Given the description of an element on the screen output the (x, y) to click on. 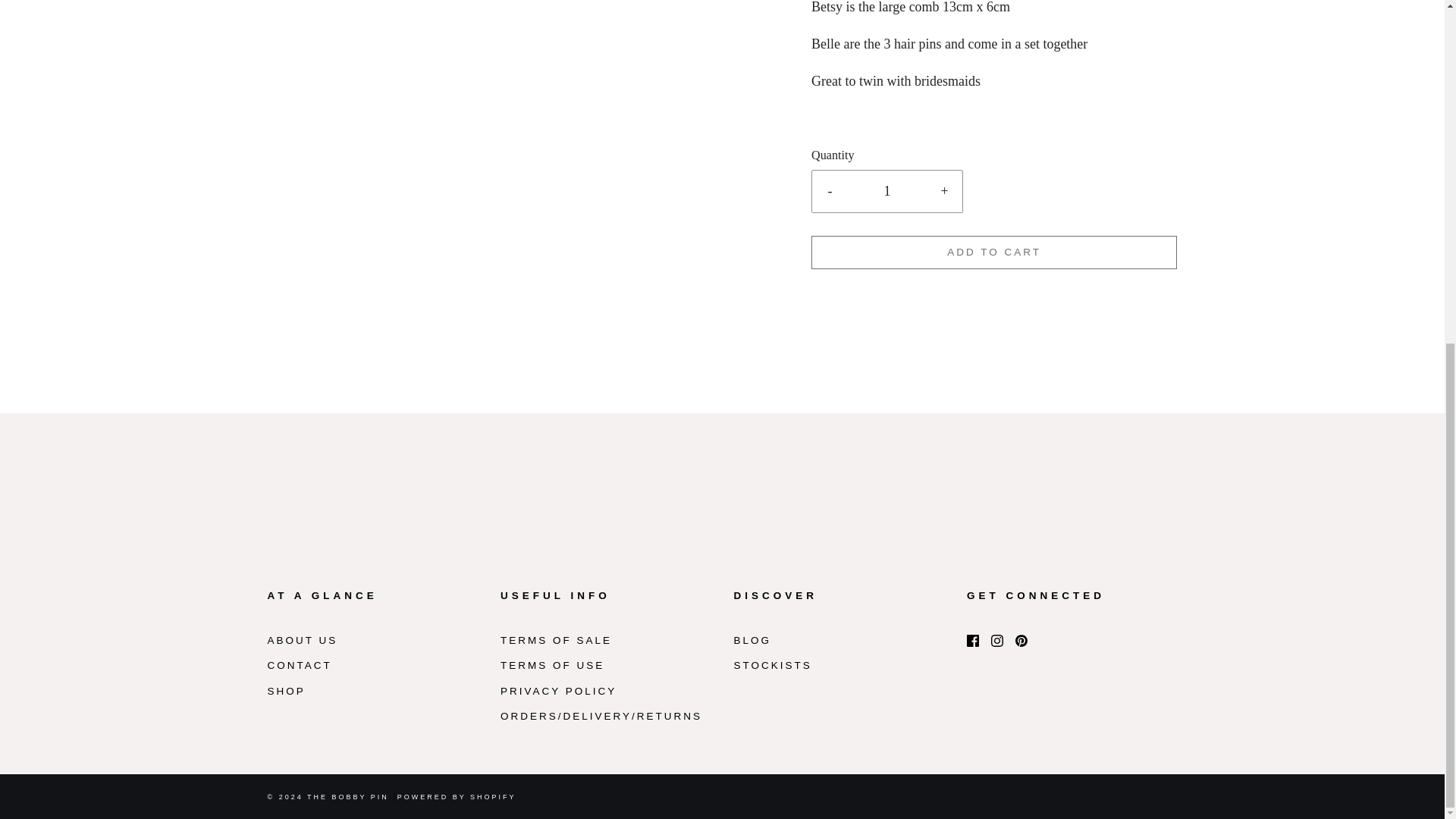
1 (887, 191)
Pinterest icon (1020, 640)
Facebook icon (972, 640)
Instagram icon (997, 640)
